Given the description of an element on the screen output the (x, y) to click on. 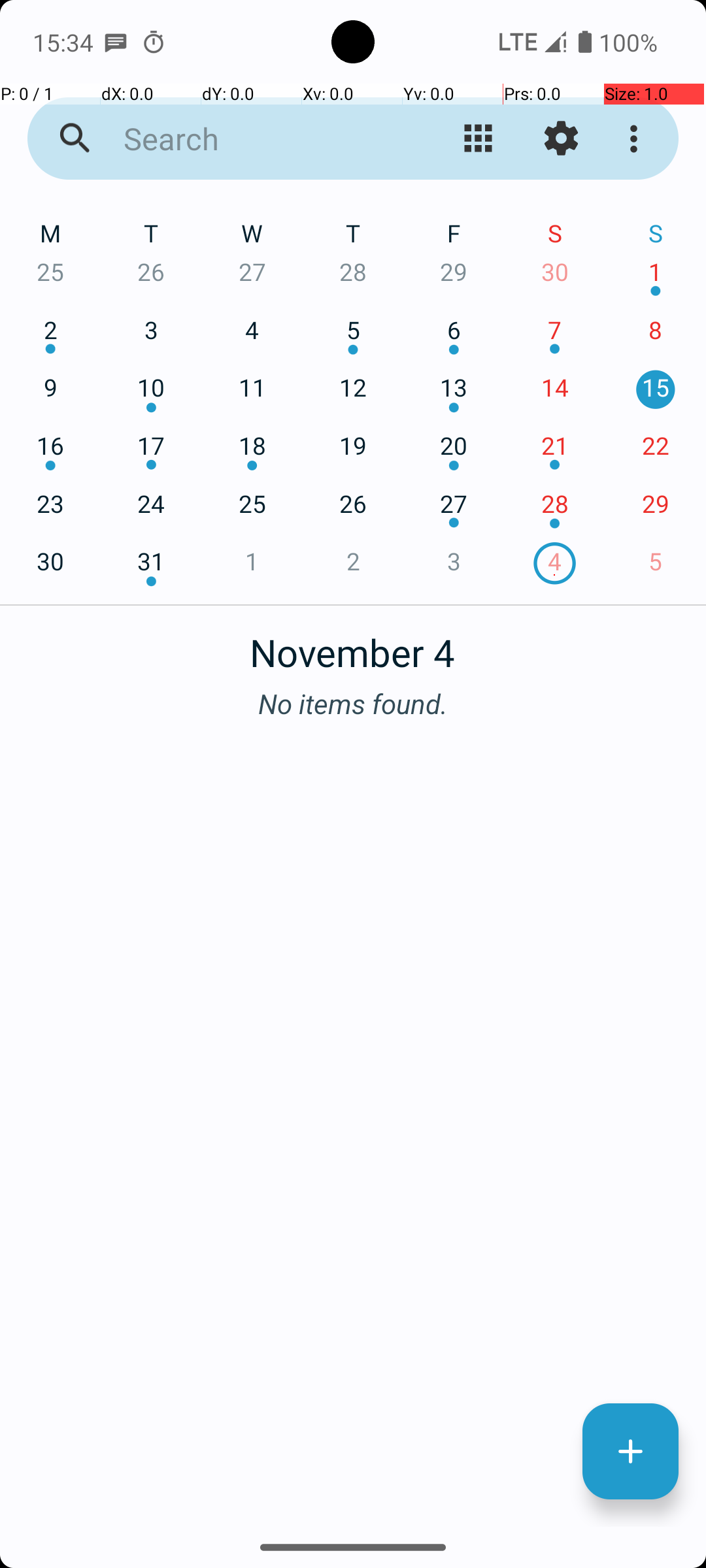
November 4 Element type: android.widget.TextView (352, 644)
SMS Messenger notification: +15785288010 Element type: android.widget.ImageView (115, 41)
